Given the description of an element on the screen output the (x, y) to click on. 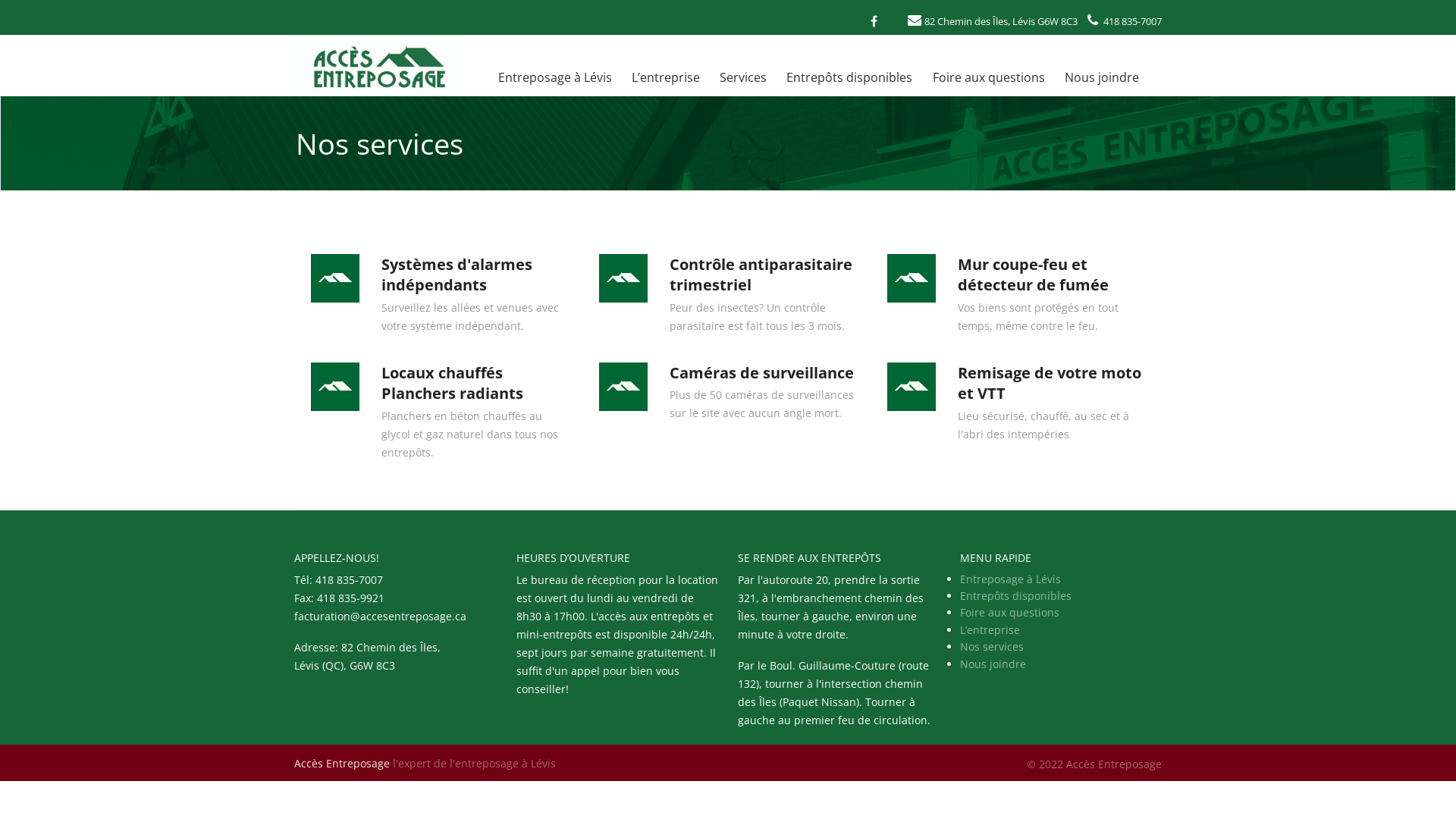
Nos services Element type: text (991, 646)
Nous joindre Element type: text (993, 663)
Services Element type: text (742, 77)
Foire aux questions Element type: text (1009, 612)
Foire aux questions Element type: text (988, 77)
Nous joindre Element type: text (1101, 77)
